Given the description of an element on the screen output the (x, y) to click on. 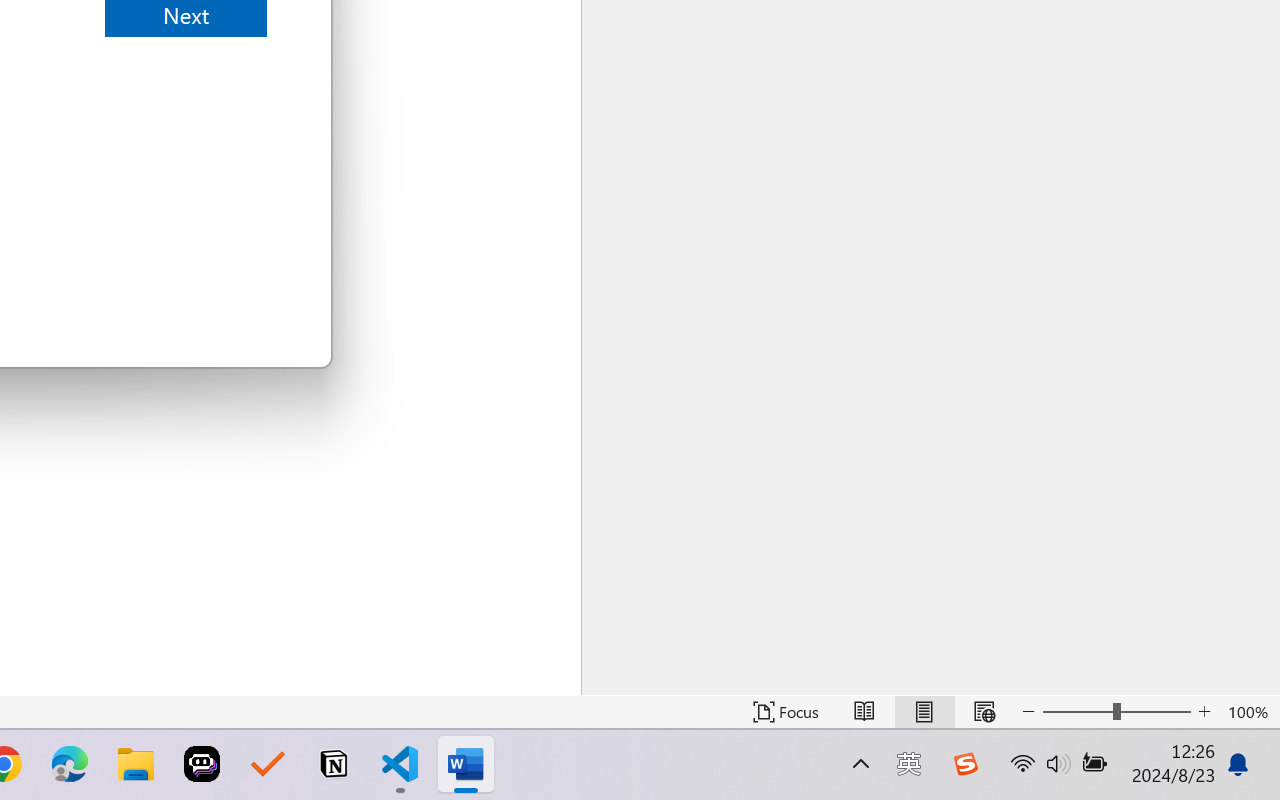
Zoom 100% (1249, 712)
Microsoft Edge (69, 764)
